Given the description of an element on the screen output the (x, y) to click on. 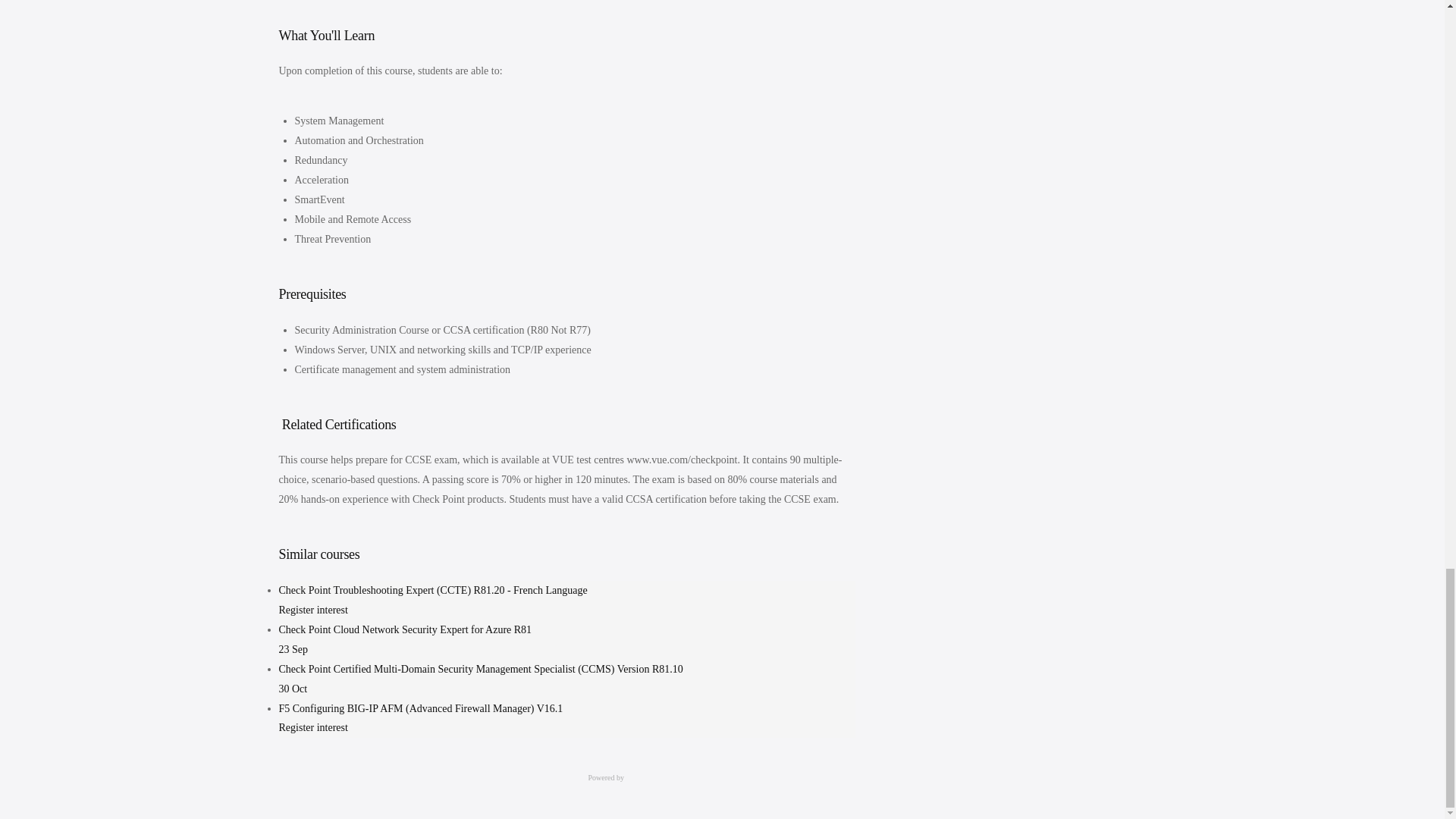
Register interest (313, 727)
Register interest (313, 609)
